Given the description of an element on the screen output the (x, y) to click on. 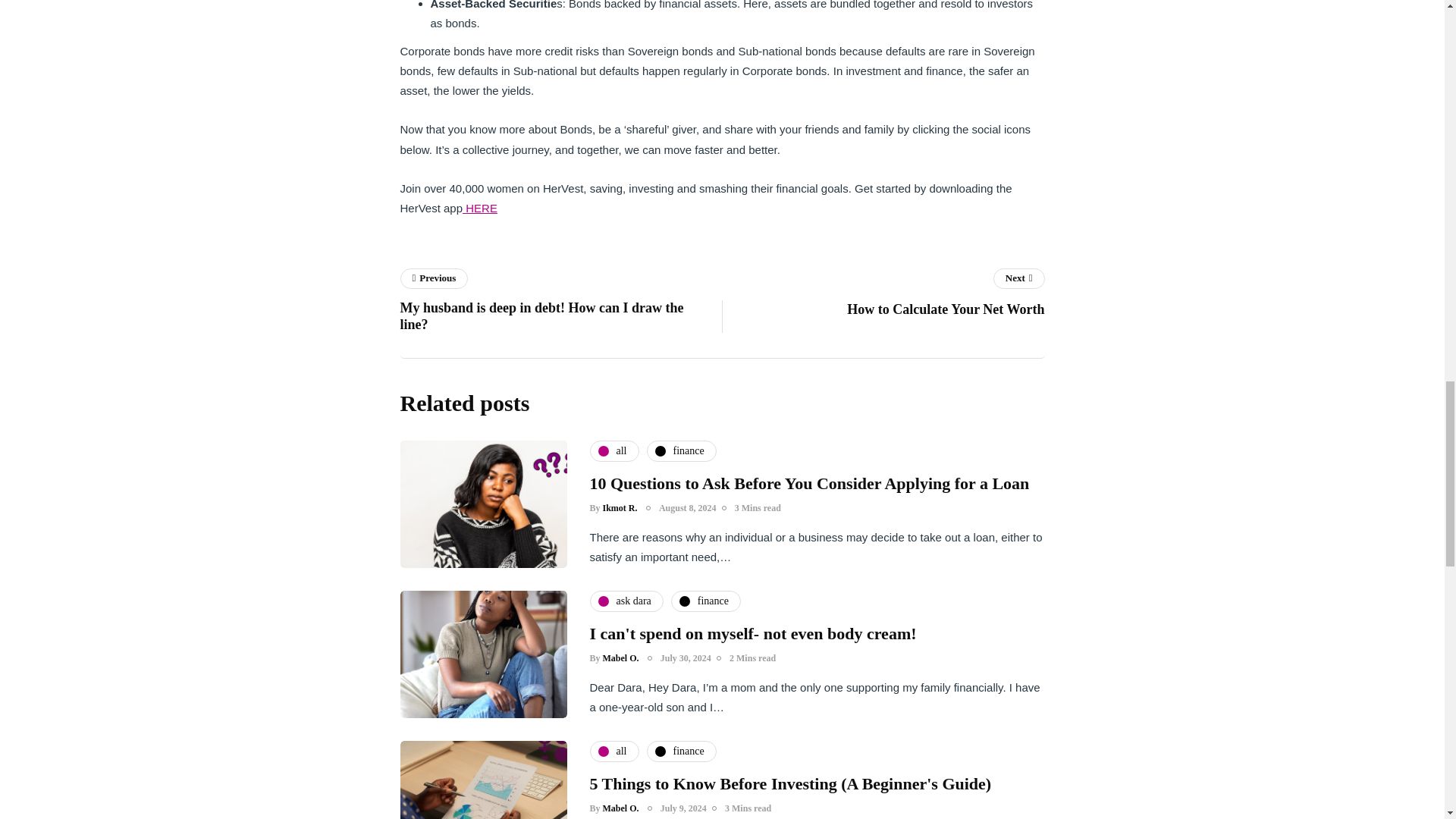
I can't spend on myself- not even body cream! (753, 633)
finance (681, 751)
all (614, 450)
HERE (480, 207)
10 Questions to Ask Before You Consider Applying for a Loan (882, 295)
finance (809, 483)
ask dara (681, 450)
Posts by Mabel O. (626, 600)
all (620, 657)
